Given the description of an element on the screen output the (x, y) to click on. 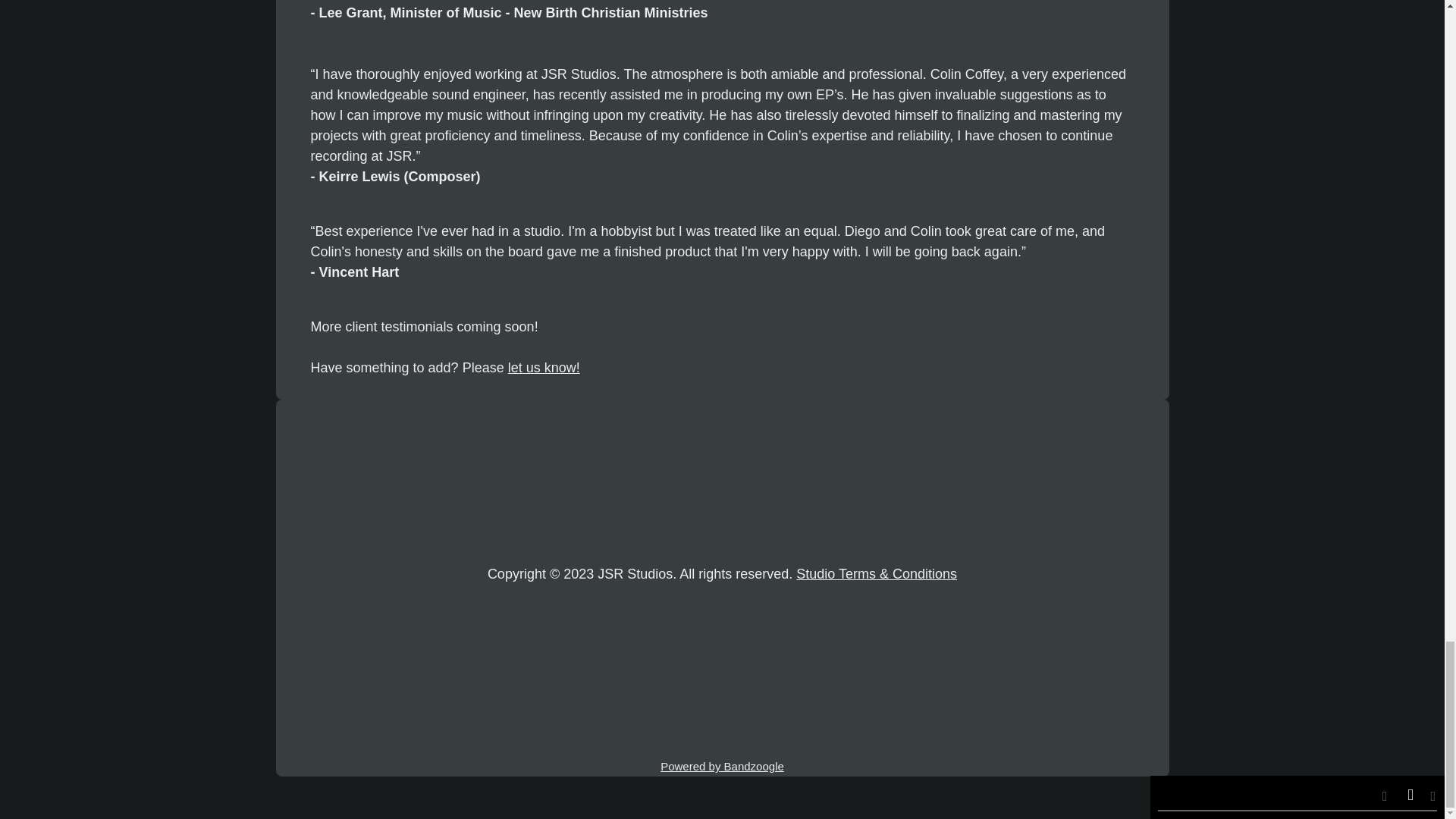
let us know! (543, 367)
Powered by Bandzoogle (722, 766)
Powered by Bandzoogle (722, 766)
